Given the description of an element on the screen output the (x, y) to click on. 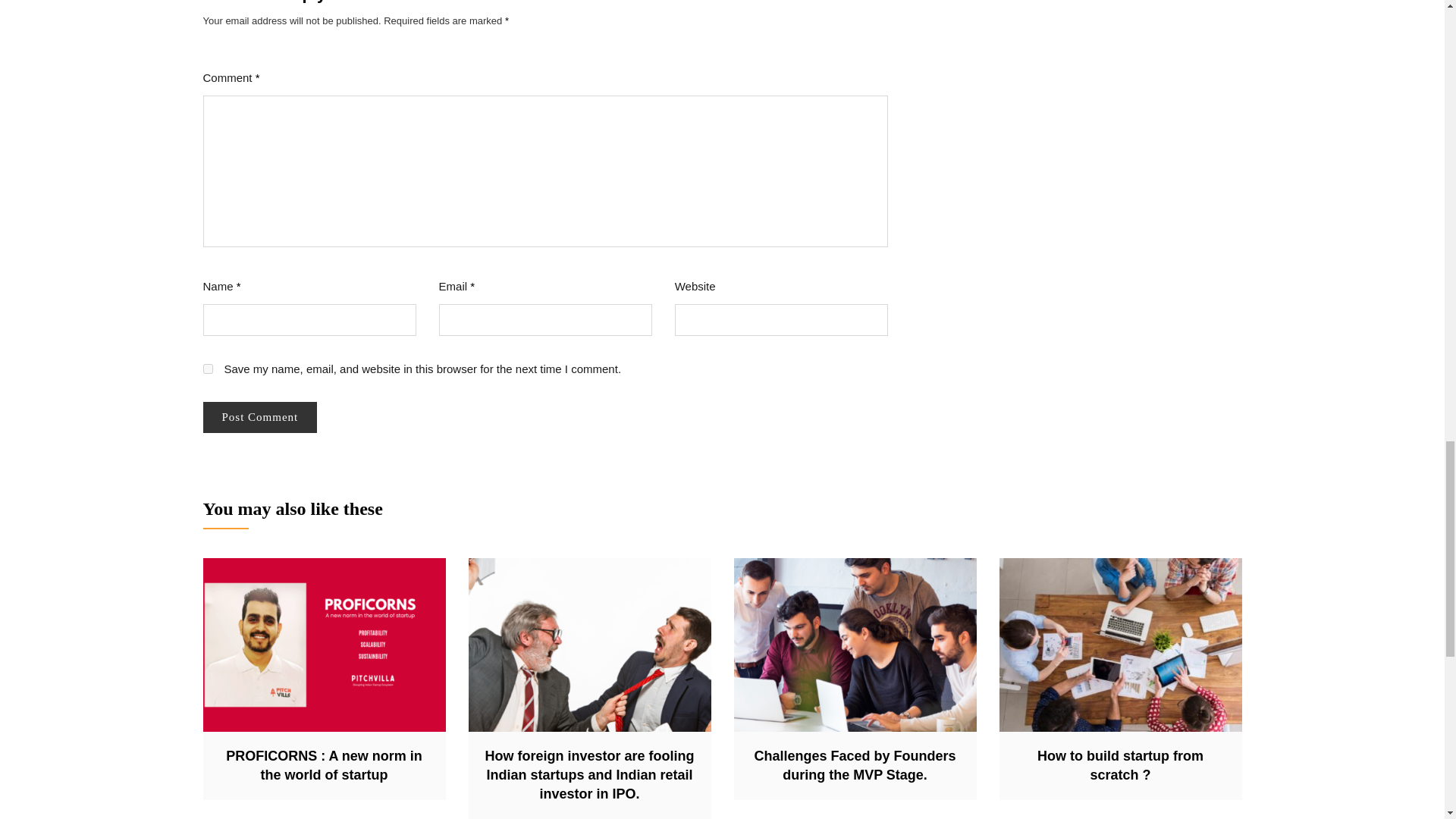
Post Comment (260, 417)
yes (207, 368)
